Given the description of an element on the screen output the (x, y) to click on. 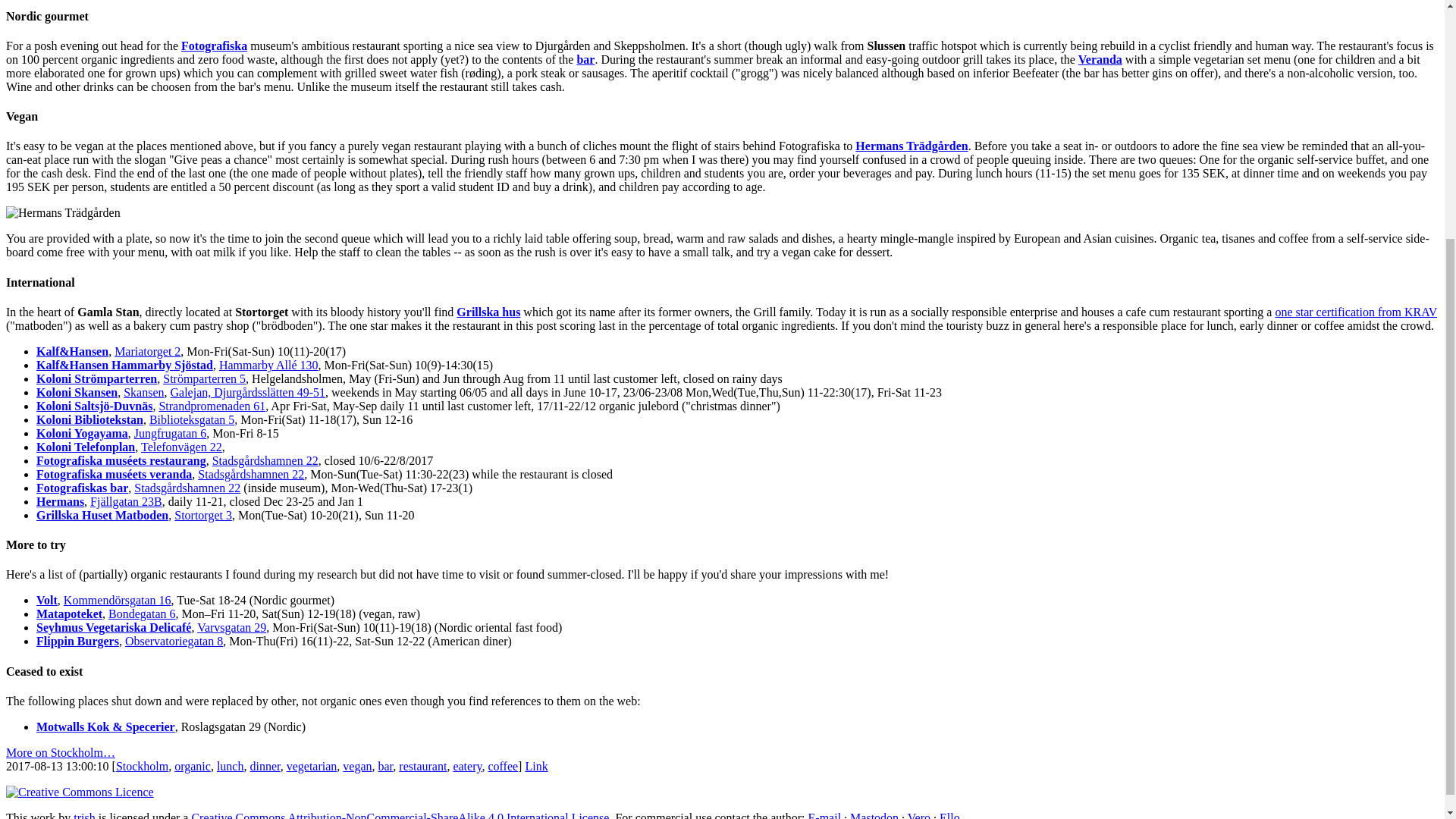
Biblioteksgatan 5 (191, 419)
In the heart of (39, 311)
Koloni Skansen (76, 391)
Koloni Bibliotekstan (89, 419)
Jungfrugatan 6 (169, 432)
Koloni Yogayama (82, 432)
Veranda (1100, 59)
Mariatorget 2 (147, 350)
Koloni Telefonplan (85, 446)
Fotografiska (213, 45)
Grillska hus (488, 311)
For a posh evening out head for (84, 45)
bar (585, 59)
Skansen (143, 391)
Strandpromenaden 61 (211, 405)
